Given the description of an element on the screen output the (x, y) to click on. 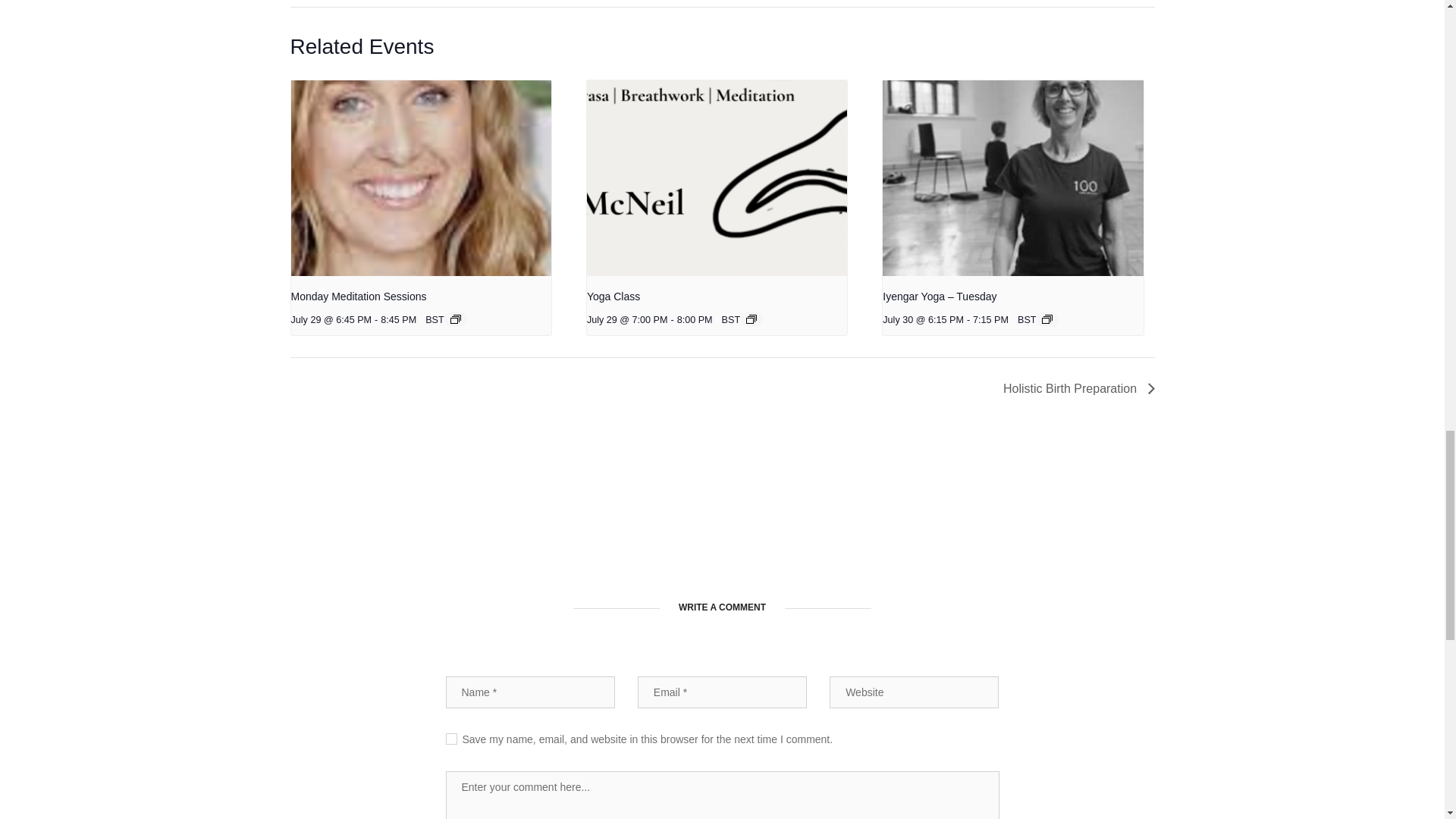
Event Series (751, 318)
Event Series (1047, 318)
Event Series (455, 318)
yes (451, 738)
